Given the description of an element on the screen output the (x, y) to click on. 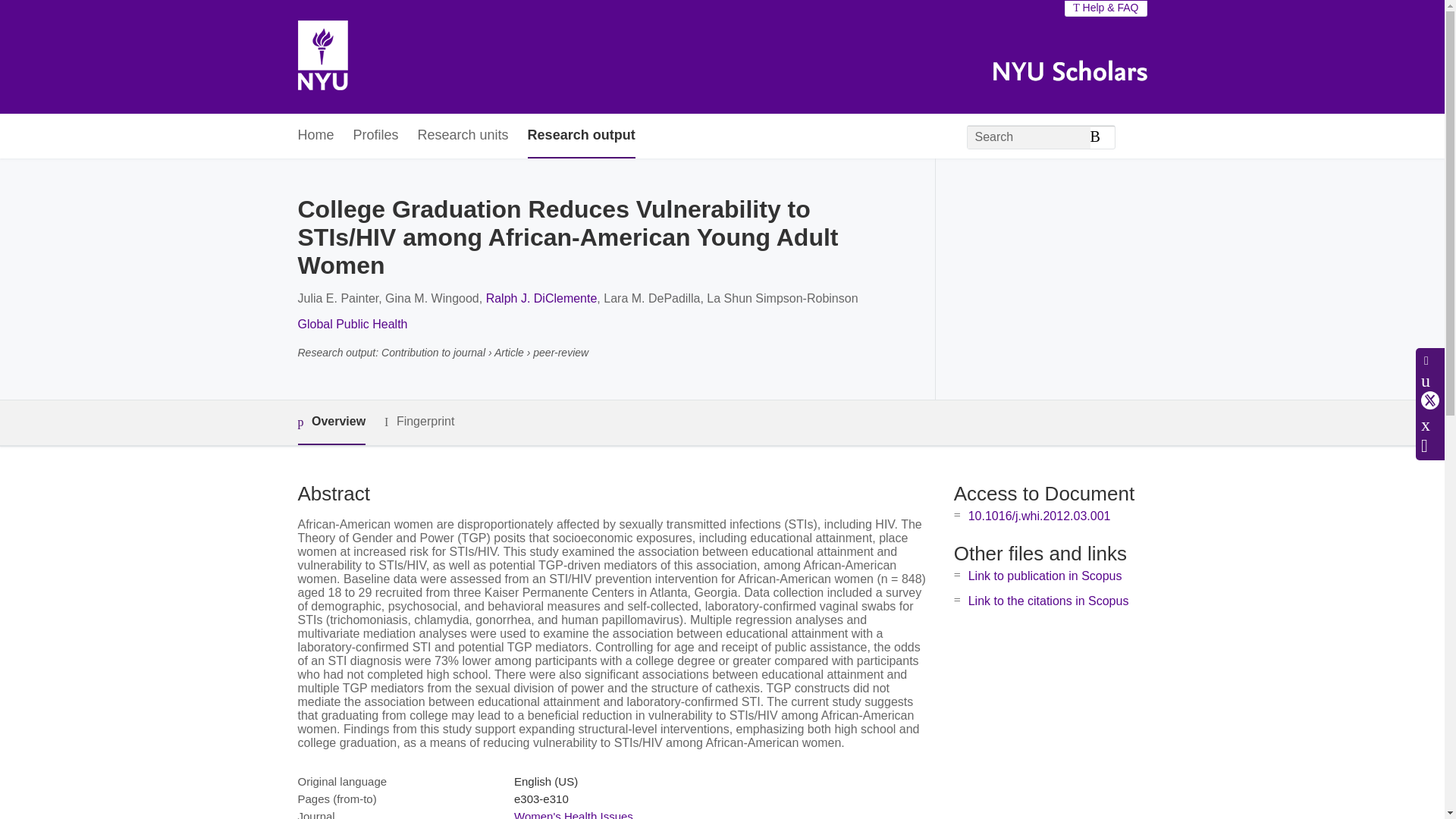
Fingerprint (419, 421)
Ralph J. DiClemente (541, 297)
Link to publication in Scopus (1045, 575)
Profiles (375, 135)
Research output (580, 135)
Overview (331, 422)
Women's Health Issues (573, 814)
Global Public Health (352, 323)
Link to the citations in Scopus (1048, 600)
